Given the description of an element on the screen output the (x, y) to click on. 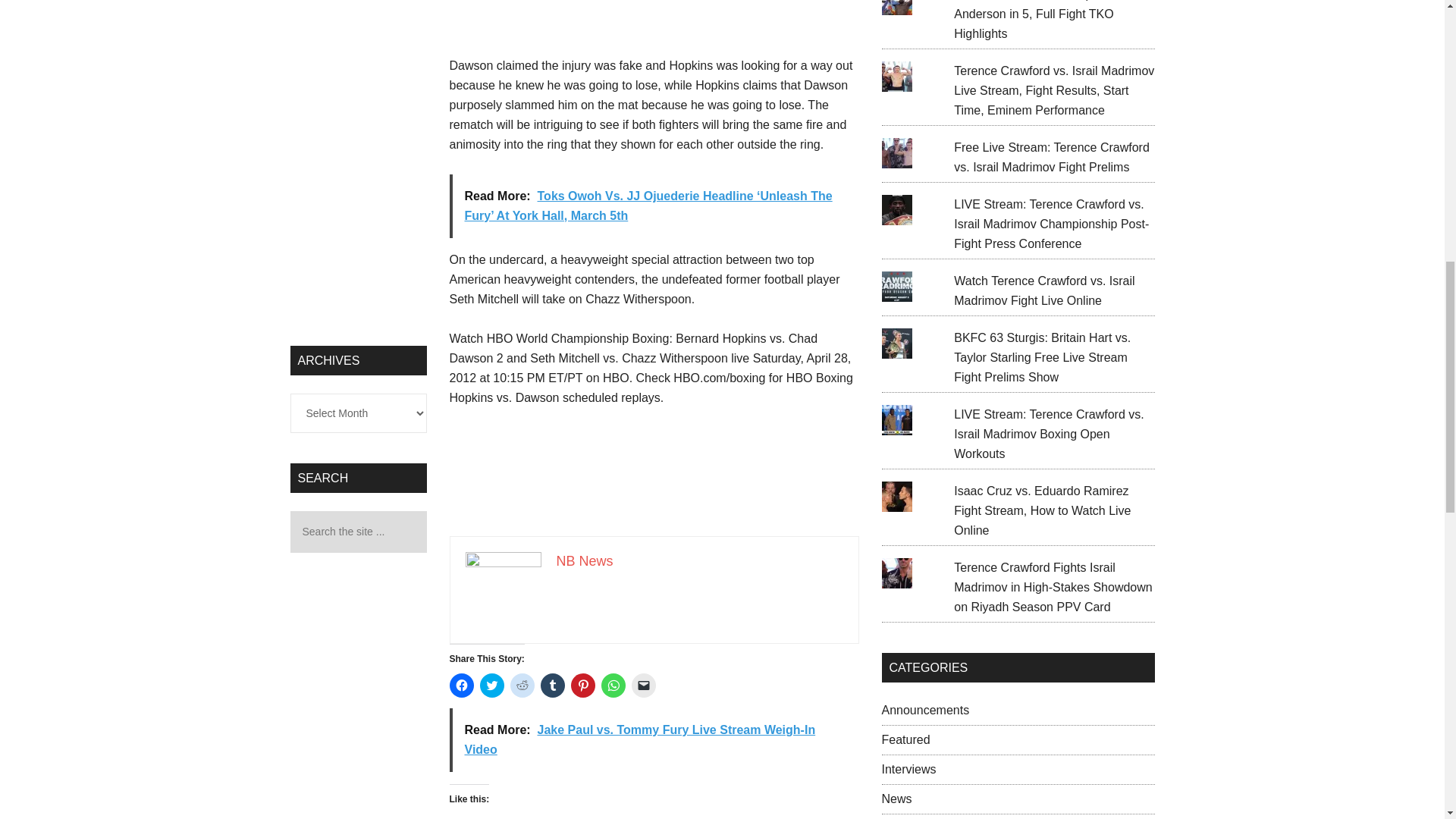
Click to share on Tumblr (552, 685)
Click to share on Facebook (460, 685)
Watch Terence Crawford vs. Israil Madrimov Fight Live Online (1043, 290)
Click to share on Twitter (491, 685)
Click to email a link to a friend (642, 685)
Click to share on Pinterest (582, 685)
